Given the description of an element on the screen output the (x, y) to click on. 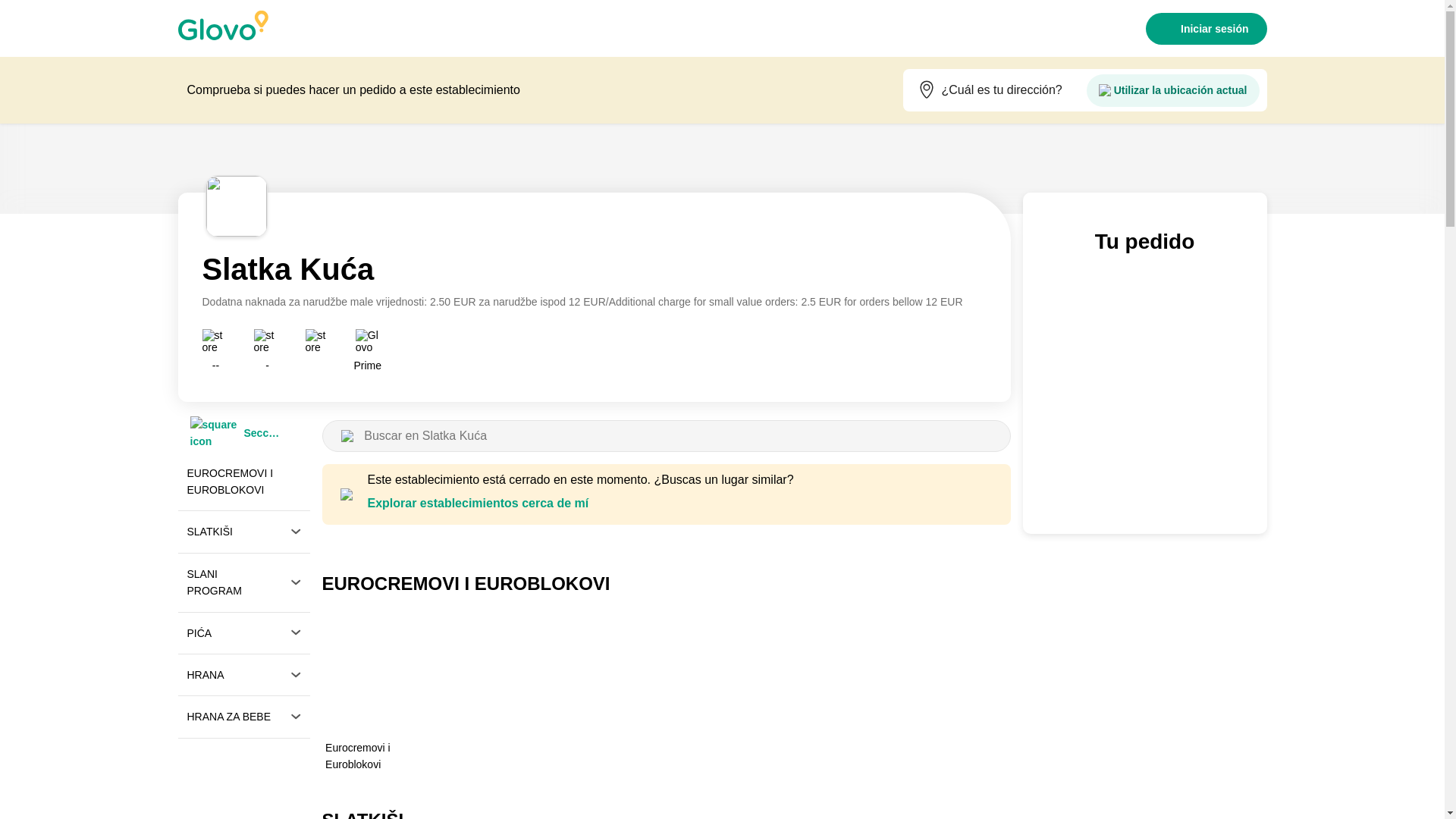
HRANA (243, 674)
HRANA ZA BEBE (243, 716)
Secciones (234, 433)
EUROCREMOVI I EUROBLOKOVI (243, 481)
SLANI PROGRAM (243, 582)
